Given the description of an element on the screen output the (x, y) to click on. 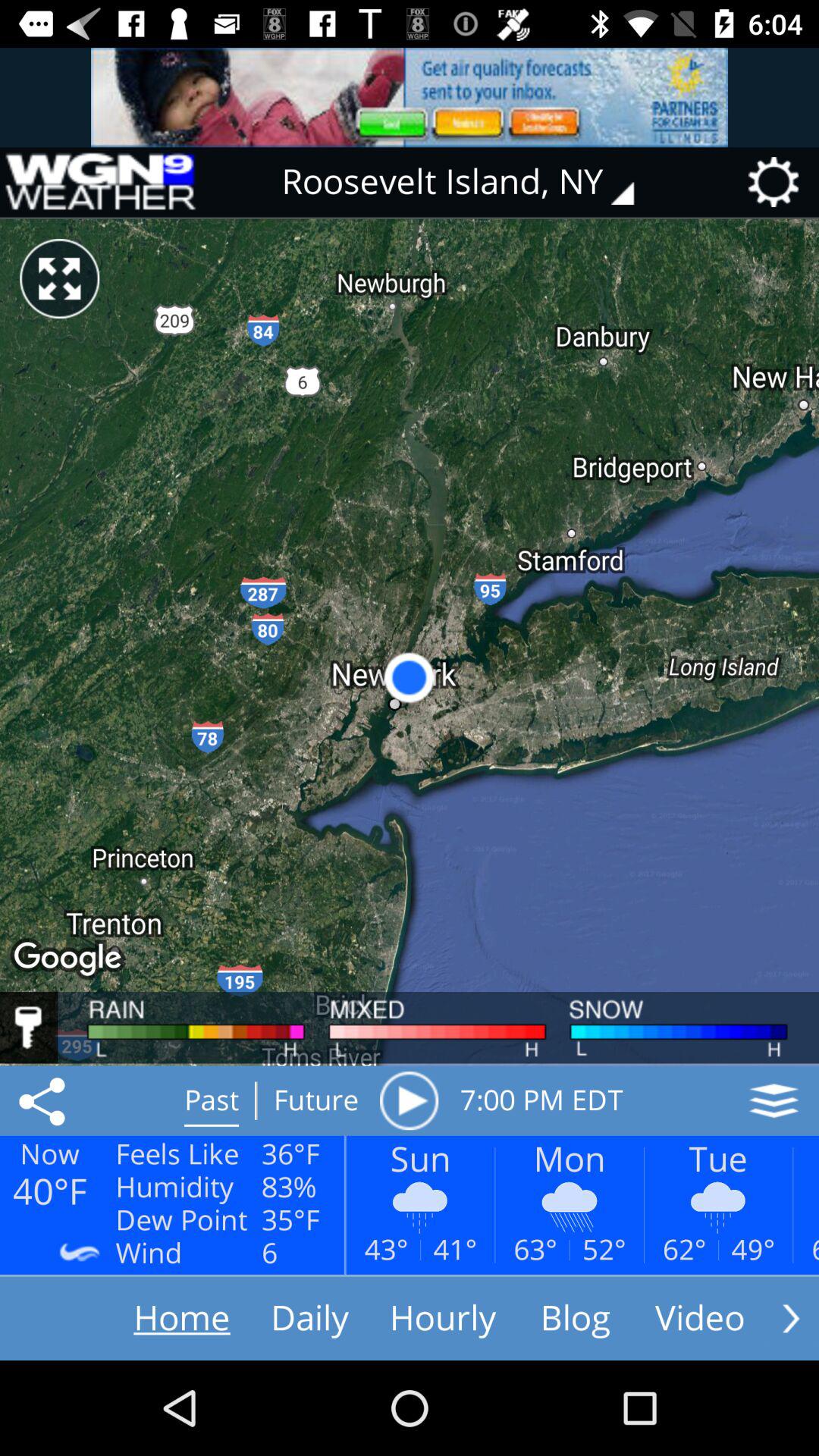
launch the item to the left of the feels like item (44, 1100)
